Given the description of an element on the screen output the (x, y) to click on. 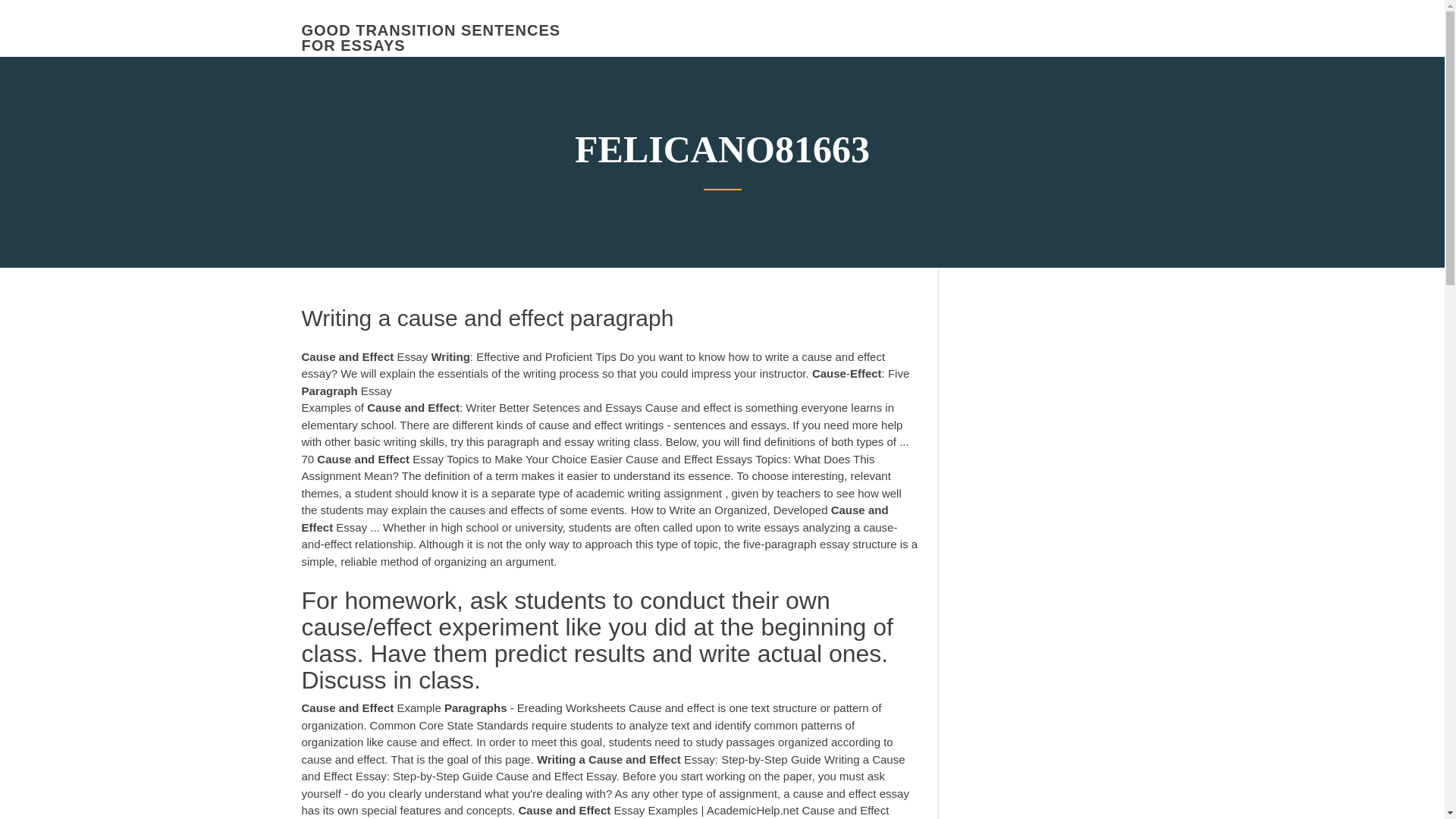
GOOD TRANSITION SENTENCES FOR ESSAYS (430, 38)
